Given the description of an element on the screen output the (x, y) to click on. 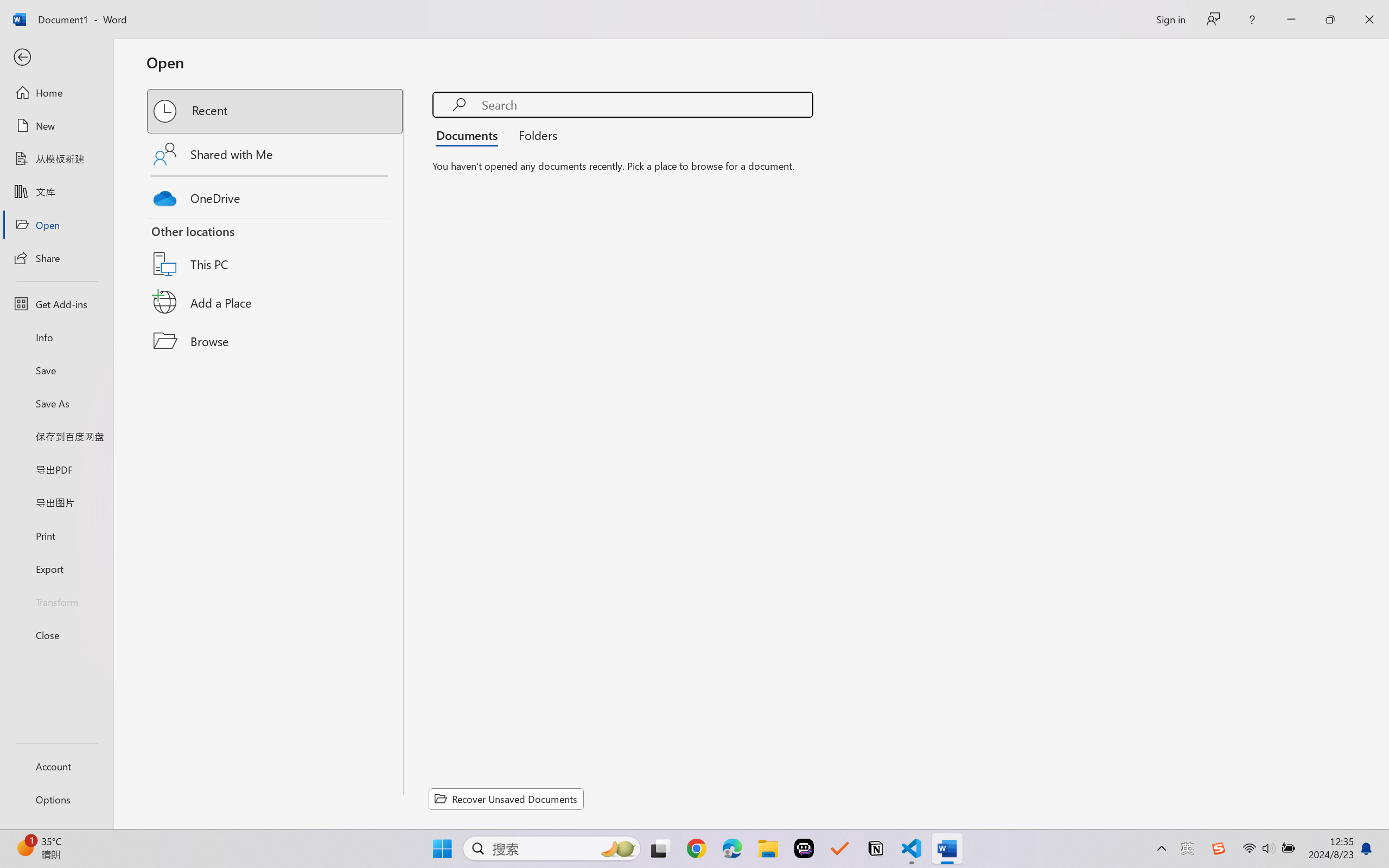
Account (56, 765)
OneDrive (275, 195)
Documents (469, 134)
This PC (275, 249)
Folders (534, 134)
